Given the description of an element on the screen output the (x, y) to click on. 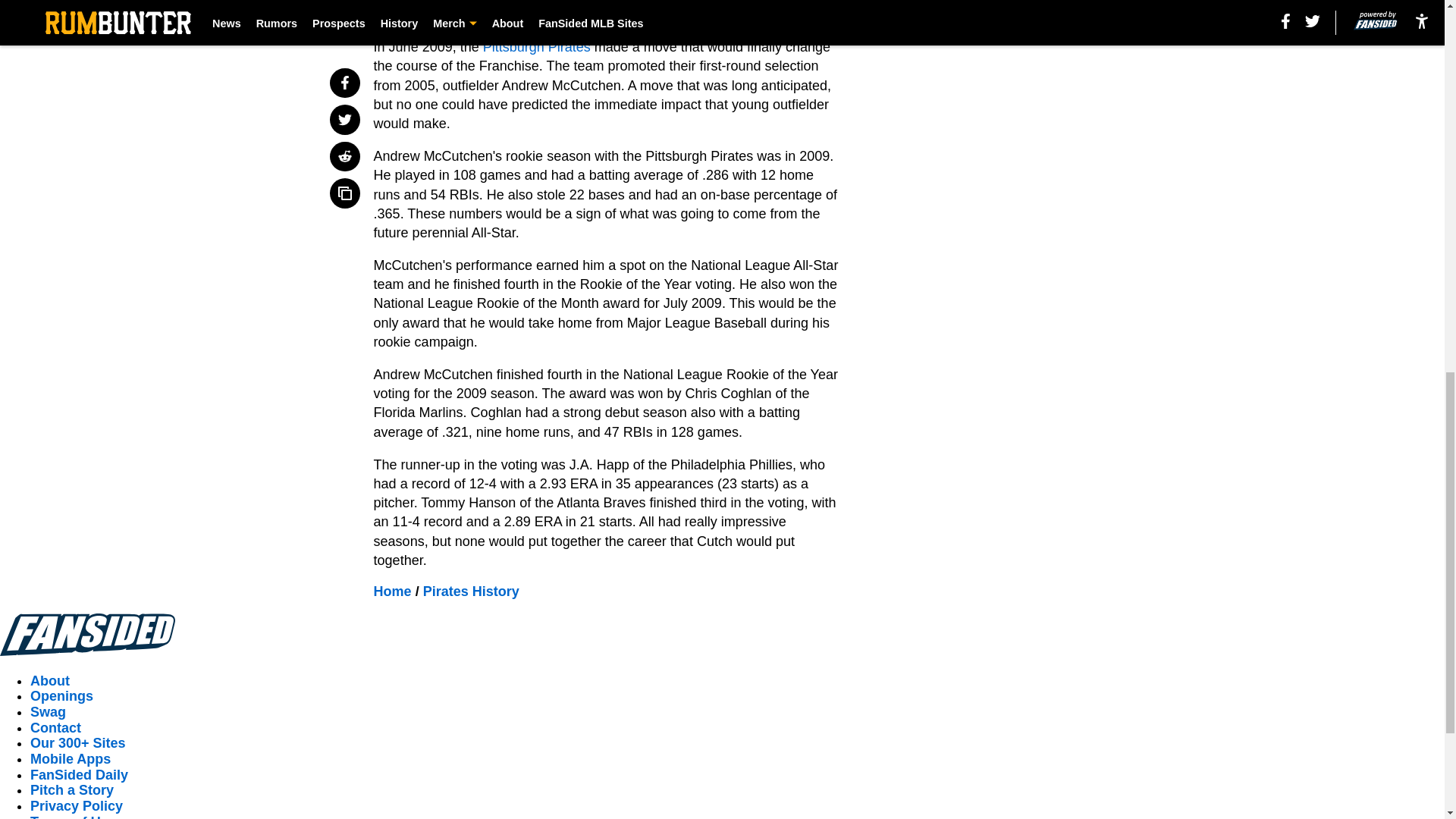
Swag (47, 711)
Contact (55, 727)
Pittsburgh Pirates (537, 46)
About (49, 680)
Home (393, 590)
Pirates History (471, 590)
Openings (61, 695)
